Given the description of an element on the screen output the (x, y) to click on. 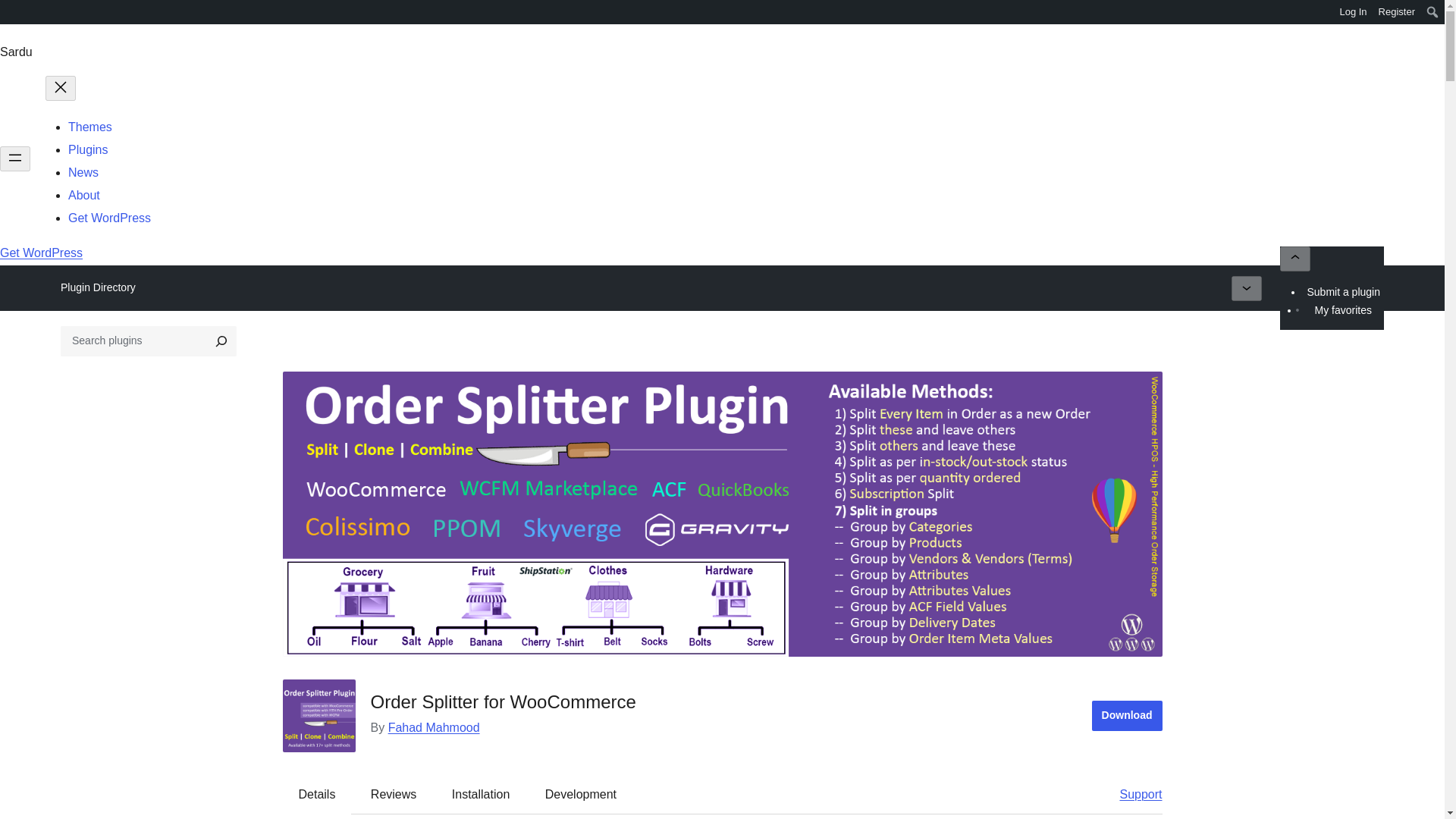
Download (1126, 716)
About (84, 195)
Submit a plugin (1343, 291)
Installation (480, 794)
Get WordPress (41, 252)
Plugin Directory (97, 287)
Details (316, 794)
Plugins (87, 149)
Get WordPress (109, 217)
My favorites (1342, 310)
